Given the description of an element on the screen output the (x, y) to click on. 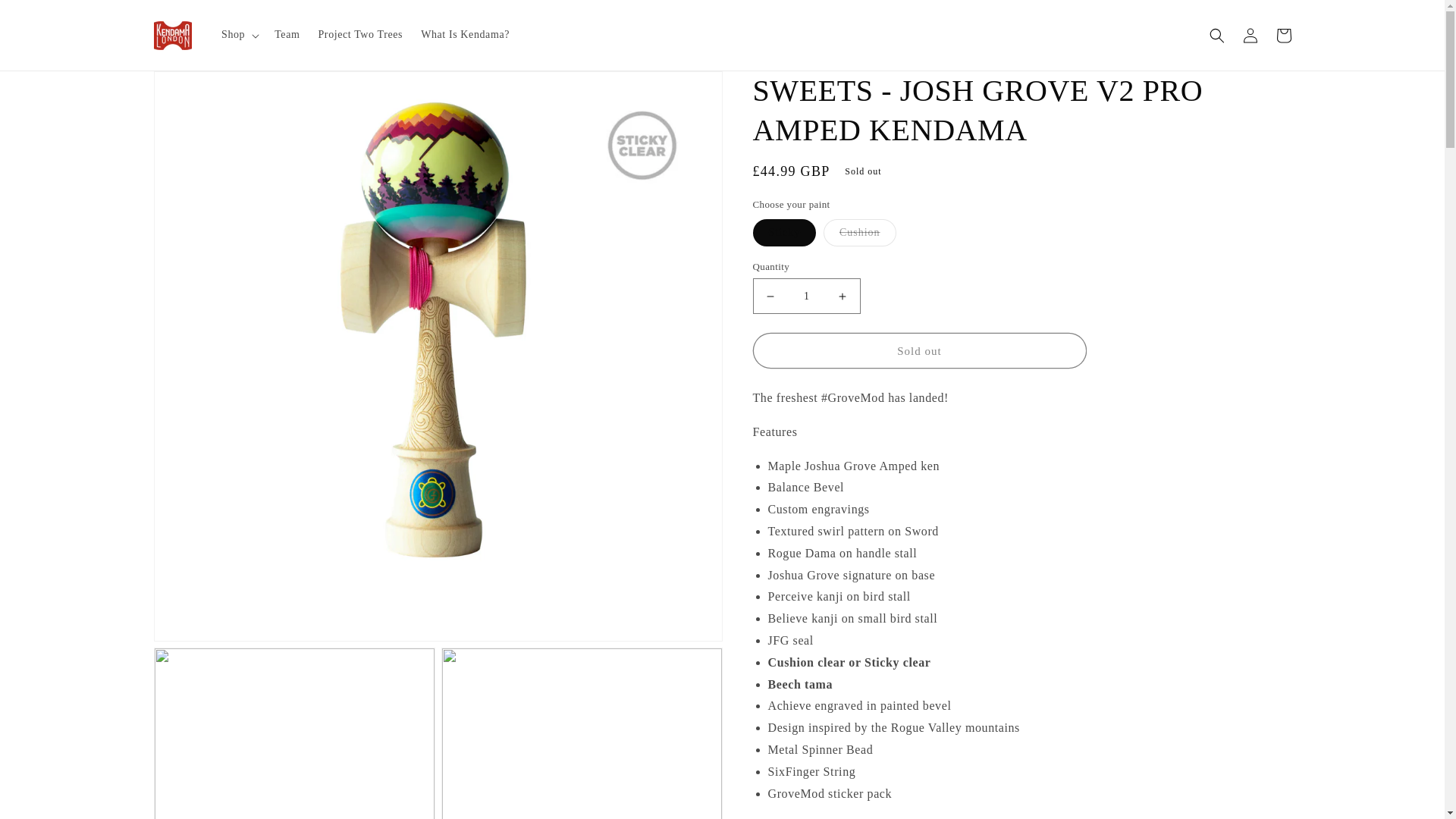
Skip to content (45, 17)
Team (286, 34)
1 (806, 295)
Project Two Trees (360, 34)
